Given the description of an element on the screen output the (x, y) to click on. 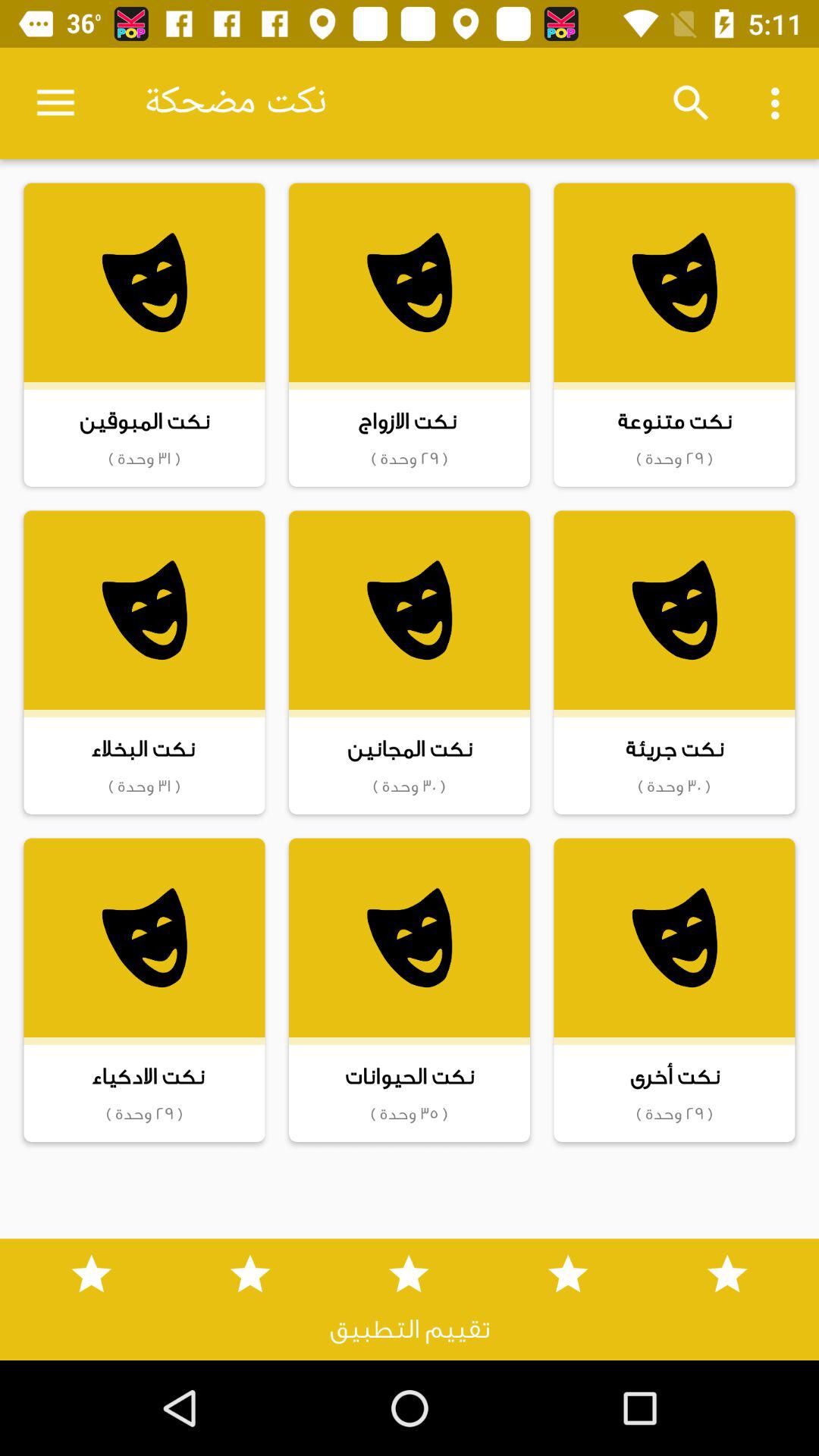
click on the first image in the second row (144, 610)
